Given the description of an element on the screen output the (x, y) to click on. 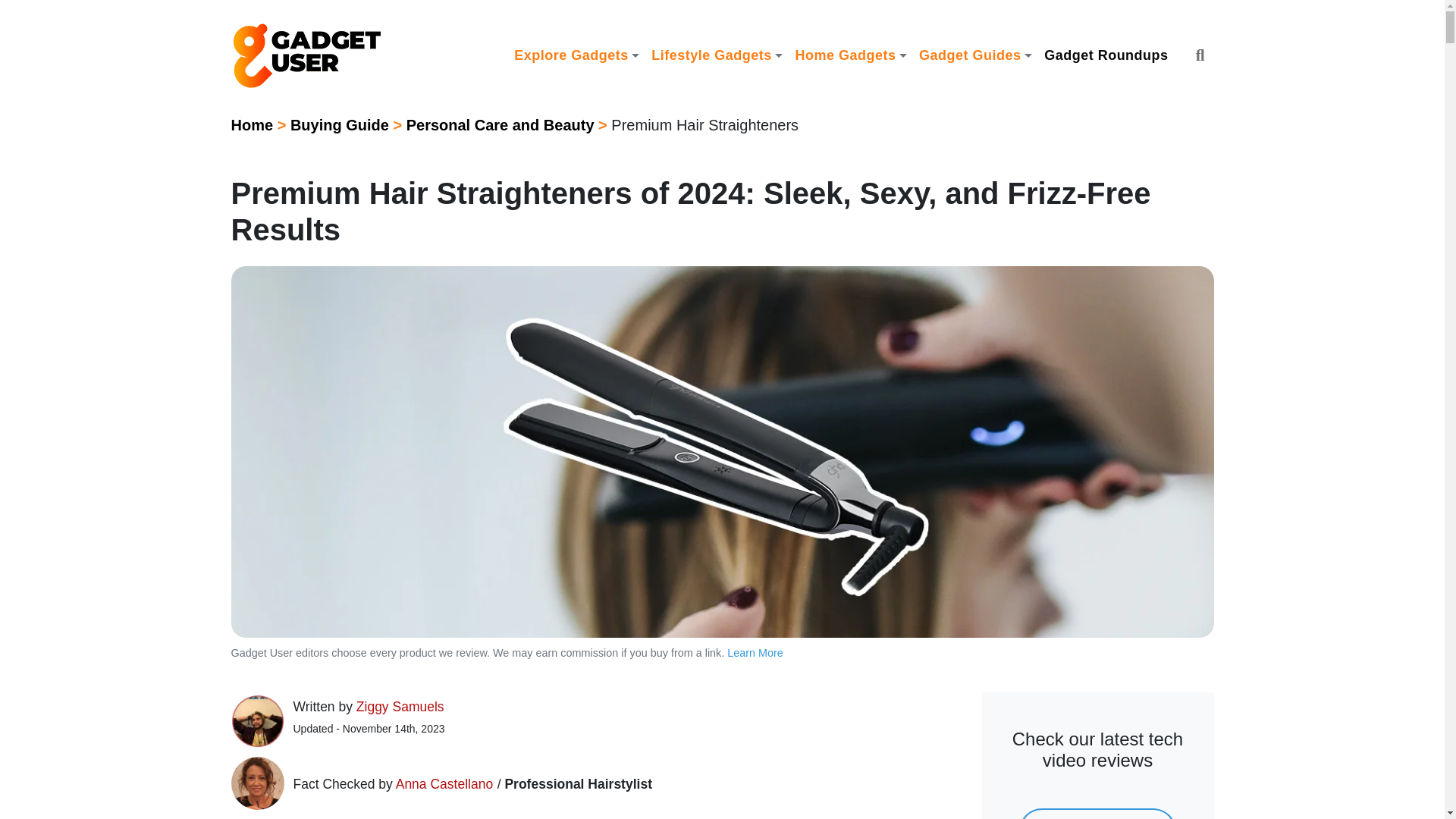
Home Gadgets (850, 55)
Gadget Guides (975, 55)
Lifestyle Gadgets (717, 55)
Explore Gadgets (576, 55)
